Given the description of an element on the screen output the (x, y) to click on. 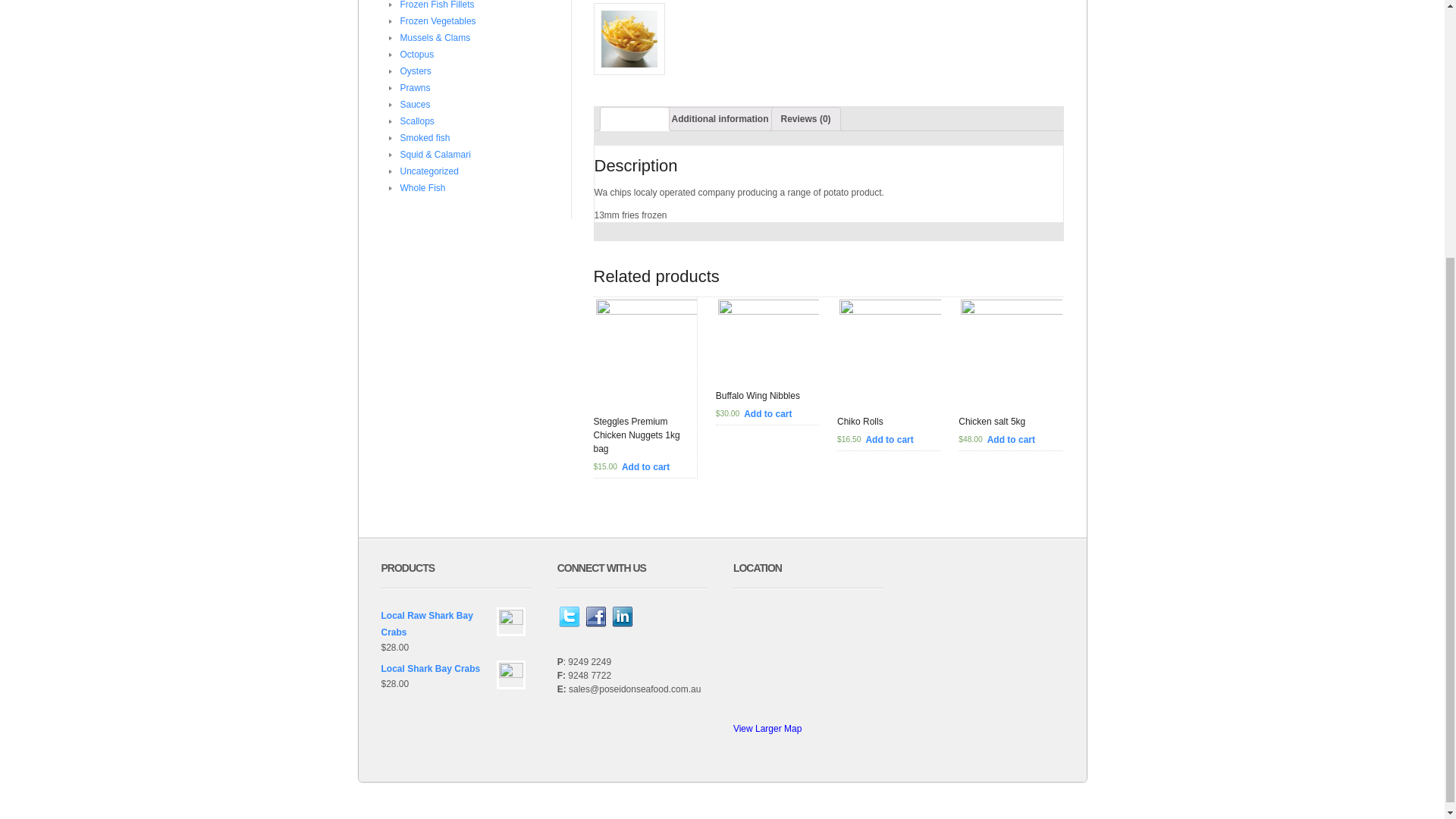
Add to cart (1011, 439)
Follow us on Twitter (568, 616)
wa chips (627, 38)
Connect on LinkedIn (622, 616)
Frozen Fish Fillets (437, 4)
Description (634, 118)
Connect on Facebook (595, 616)
Additional information (719, 118)
Add to cart (768, 413)
Add to cart (888, 439)
Add to cart (645, 466)
